Given the description of an element on the screen output the (x, y) to click on. 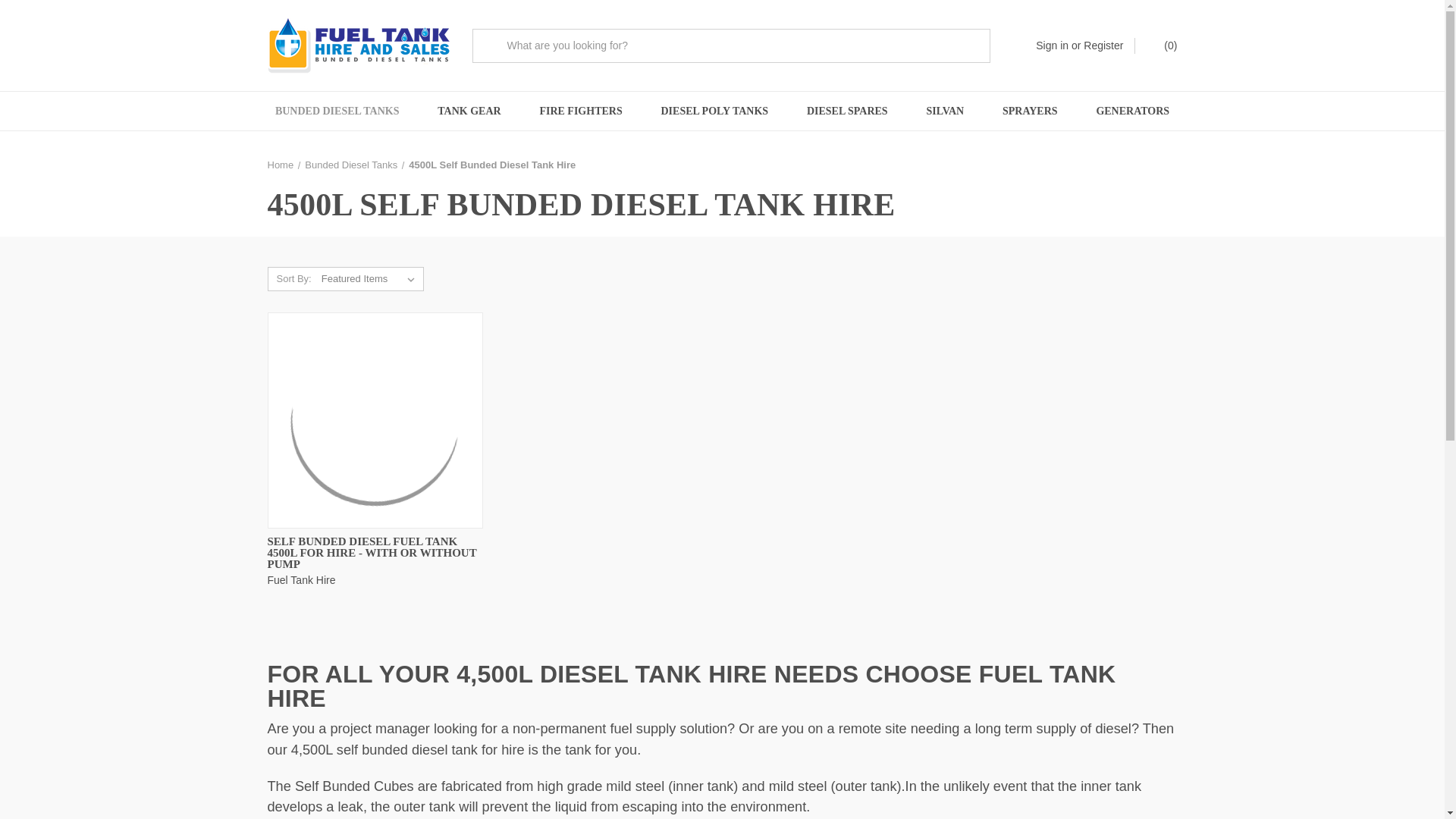
FIRE FIGHTERS (580, 110)
DIESEL POLY TANKS (714, 110)
BUNDED DIESEL TANKS (337, 110)
Fuel Tank Hire and Sales (357, 45)
Self Bunded Diesel Fuel Tank 4500L (374, 419)
Register (1102, 45)
SPRAYERS (1030, 110)
Sign in (1051, 45)
DIESEL SPARES (847, 110)
TANK GEAR (469, 110)
